Given the description of an element on the screen output the (x, y) to click on. 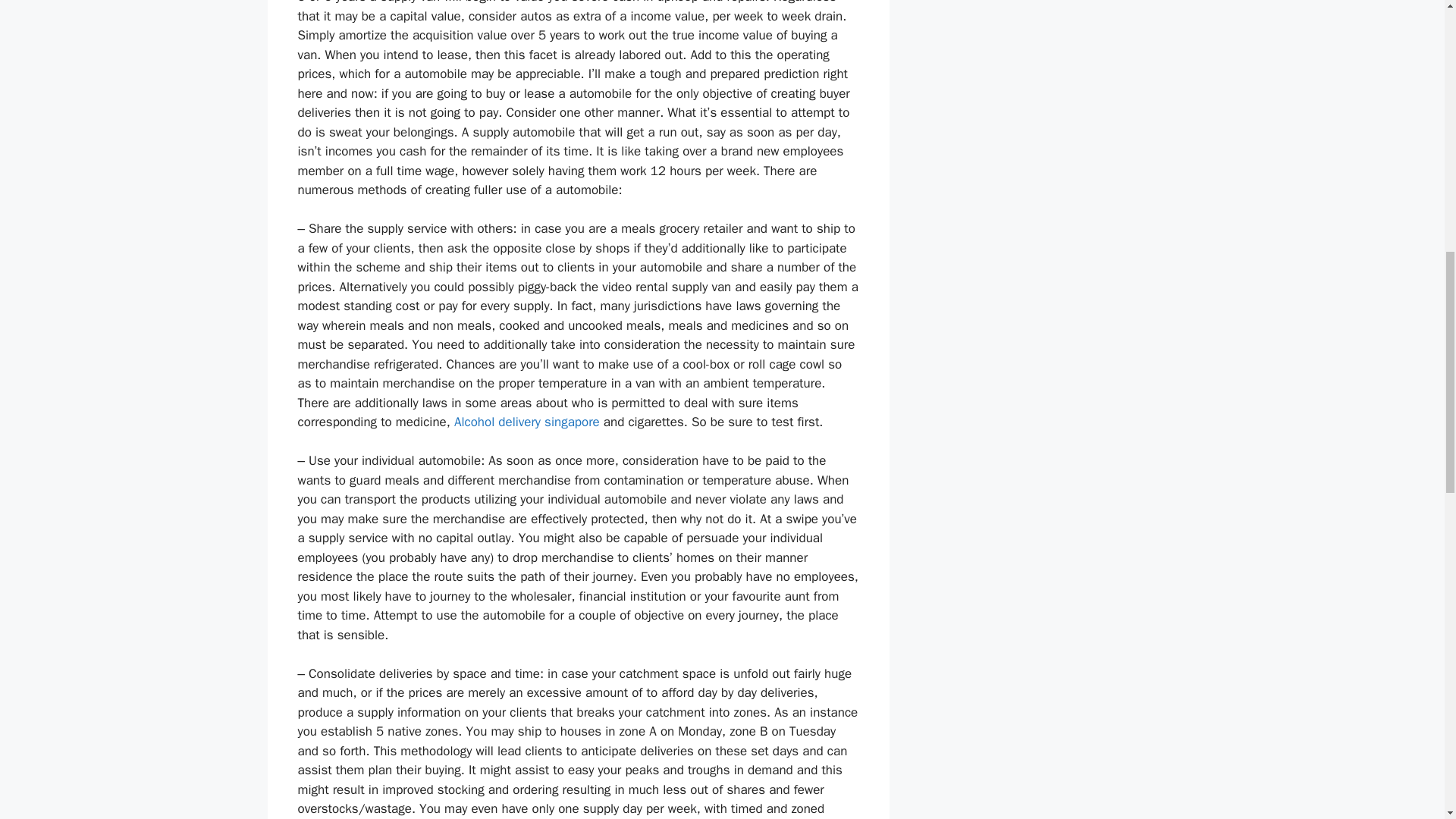
Alcohol delivery singapore (526, 421)
